Given the description of an element on the screen output the (x, y) to click on. 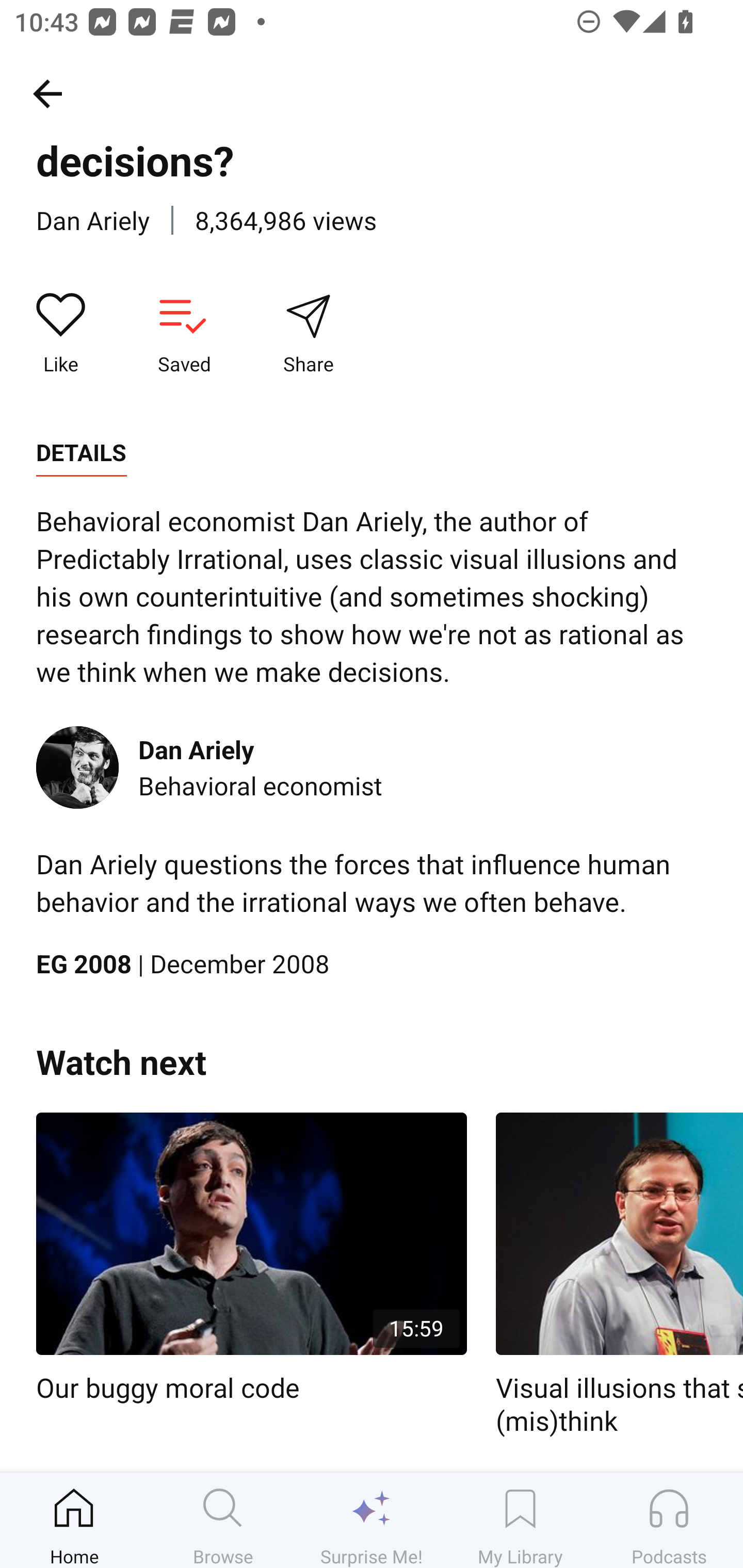
Home, back (47, 92)
Like (60, 333)
Saved (183, 333)
Share (308, 333)
DETAILS (80, 452)
15:59 Our buggy moral code (251, 1258)
Visual illusions that show how we (mis)think (619, 1275)
Home (74, 1520)
Browse (222, 1520)
Surprise Me! (371, 1520)
My Library (519, 1520)
Podcasts (668, 1520)
